Given the description of an element on the screen output the (x, y) to click on. 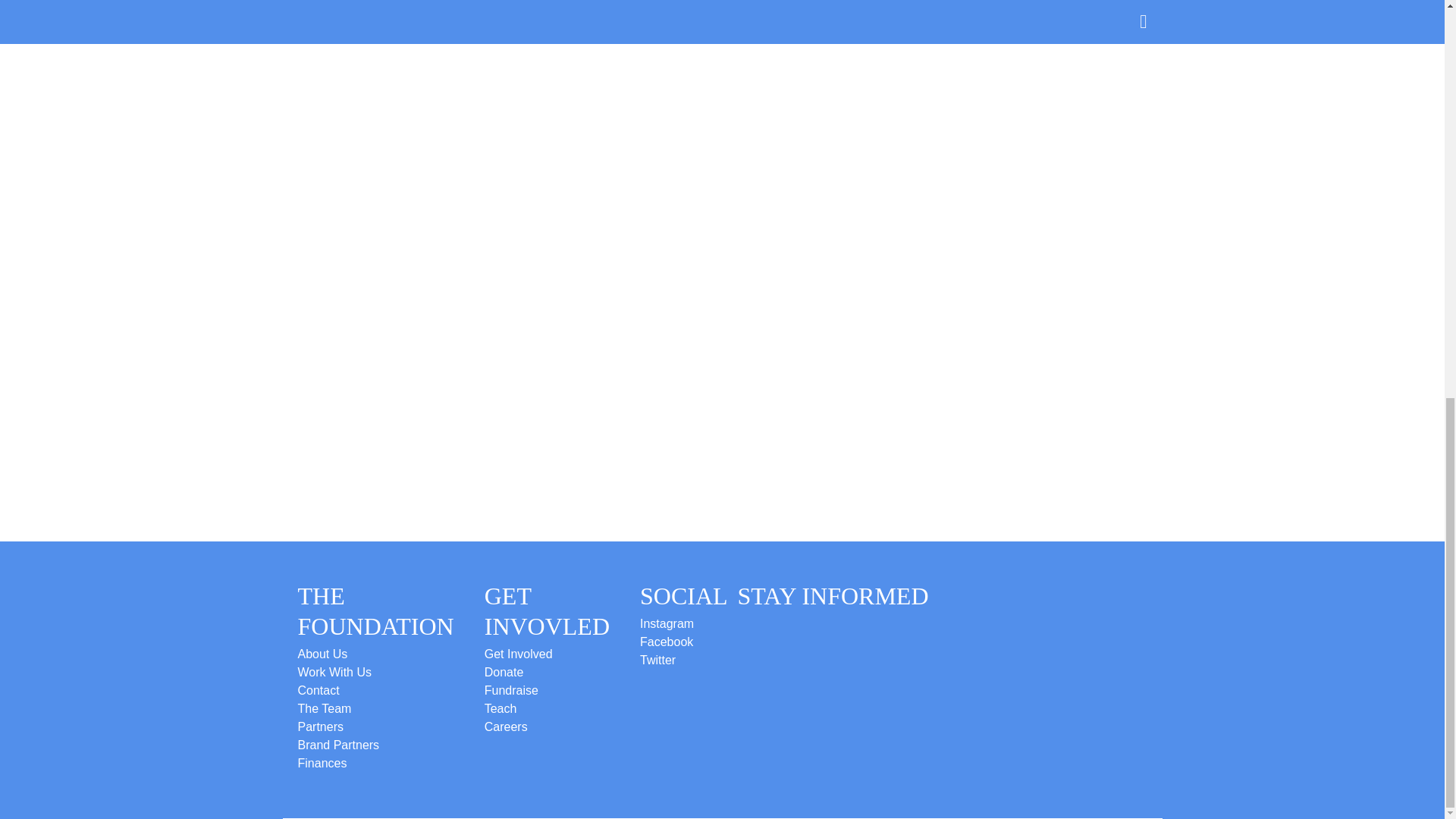
Work With Us (334, 671)
About Us (322, 653)
The Team (323, 707)
Contact (318, 689)
